Given the description of an element on the screen output the (x, y) to click on. 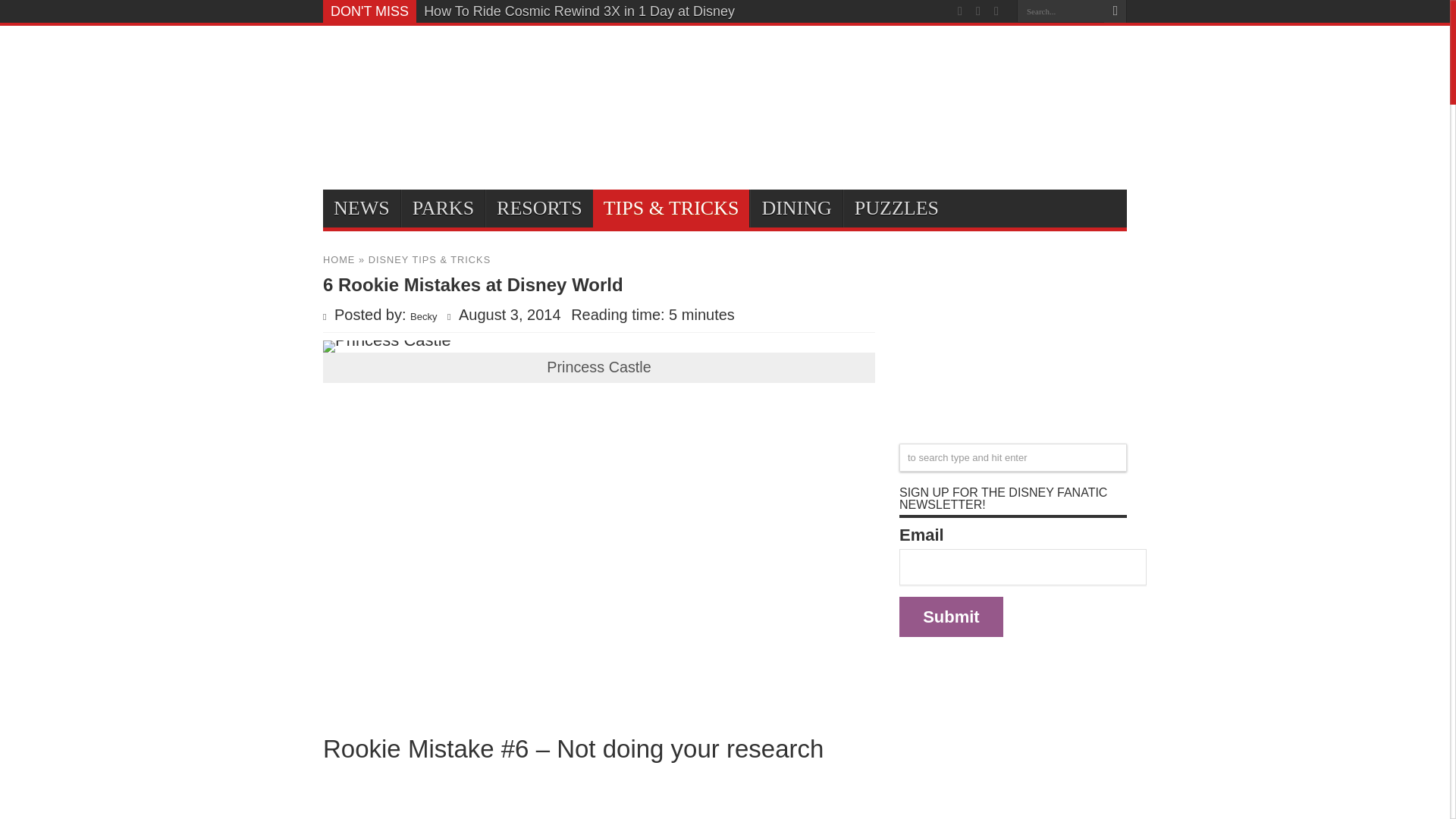
Search (1114, 11)
to search type and hit enter (1012, 457)
RESORTS (538, 208)
DINING (795, 208)
How To Ride Cosmic Rewind 3X in 1 Day at Disney (579, 11)
PARKS (442, 208)
DisneyFanatic.com (398, 67)
Becky (423, 316)
How To Ride Cosmic Rewind 3X in 1 Day at Disney (579, 11)
PUZZLES (896, 208)
